Given the description of an element on the screen output the (x, y) to click on. 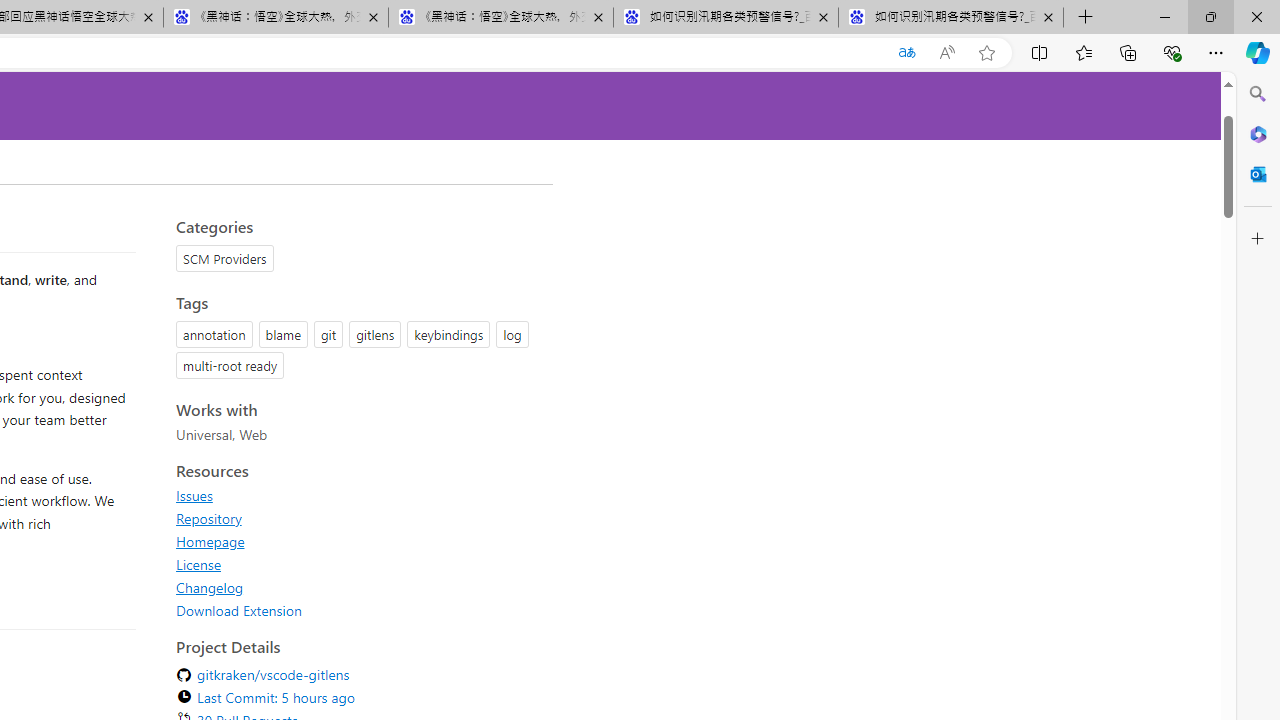
Homepage (210, 541)
Translated (906, 53)
Download Extension (358, 610)
Homepage (358, 541)
